Given the description of an element on the screen output the (x, y) to click on. 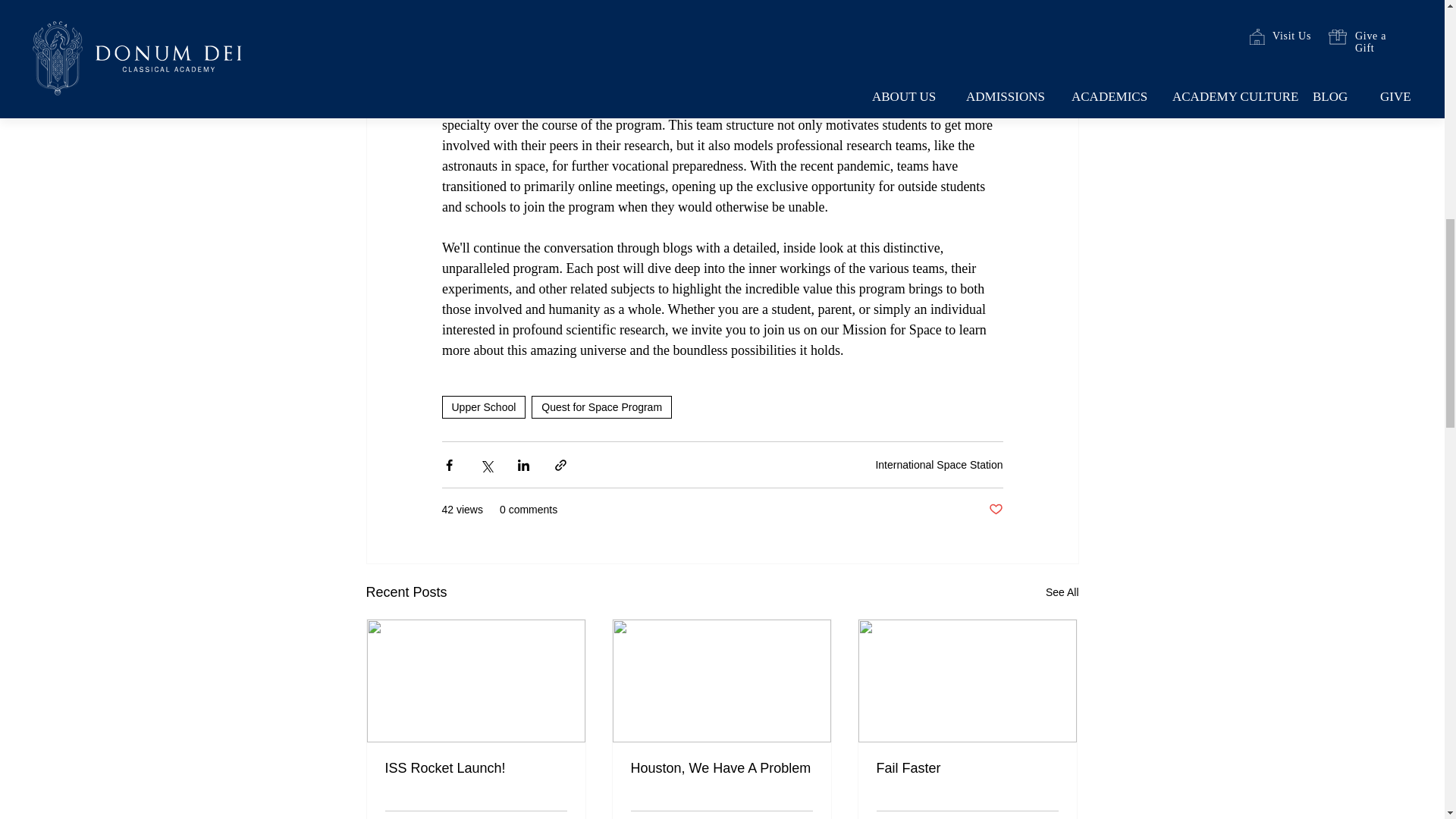
Quest for Space Program (601, 406)
Upper School (483, 406)
